Given the description of an element on the screen output the (x, y) to click on. 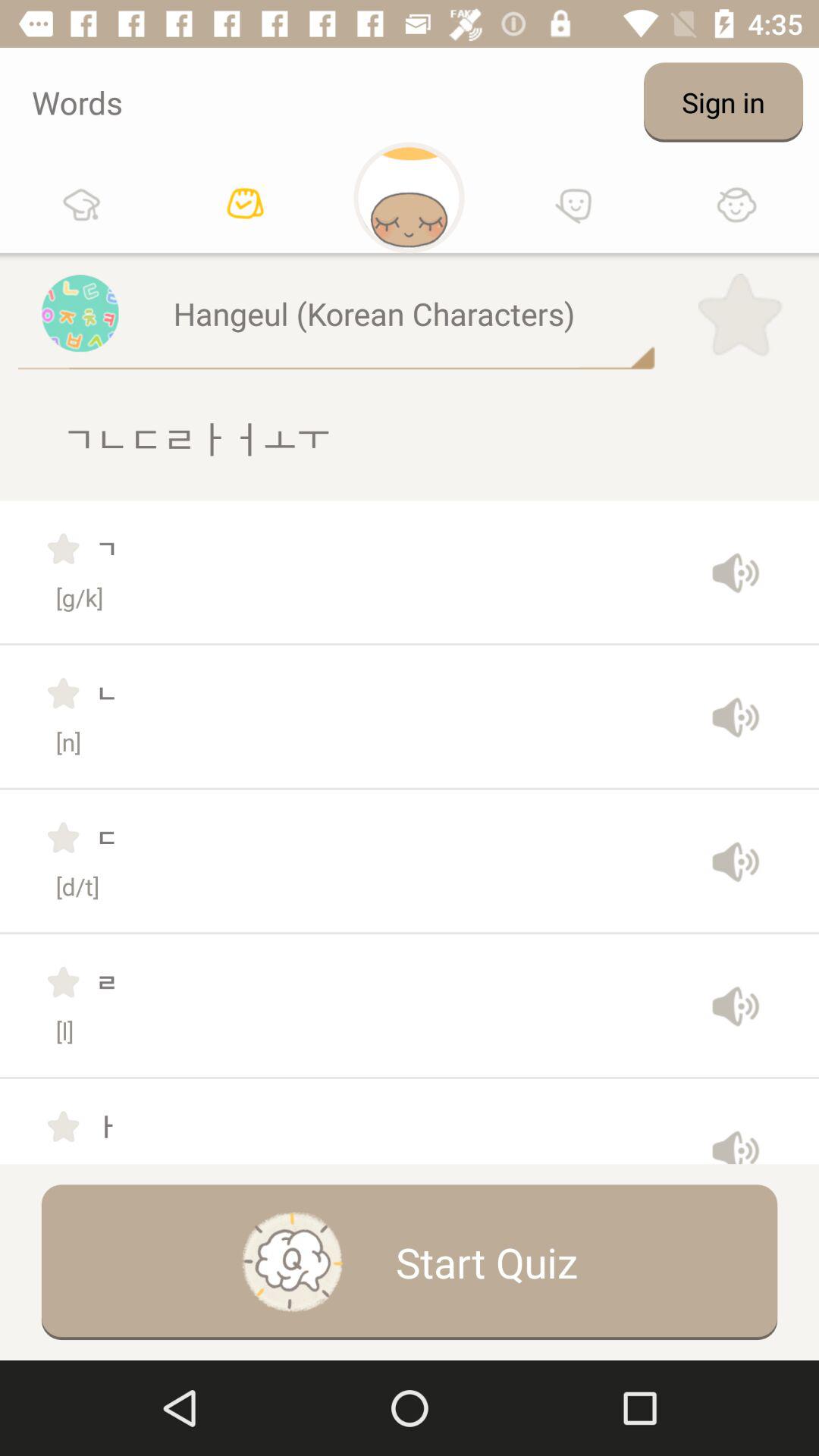
launch the item next to words app (723, 102)
